Given the description of an element on the screen output the (x, y) to click on. 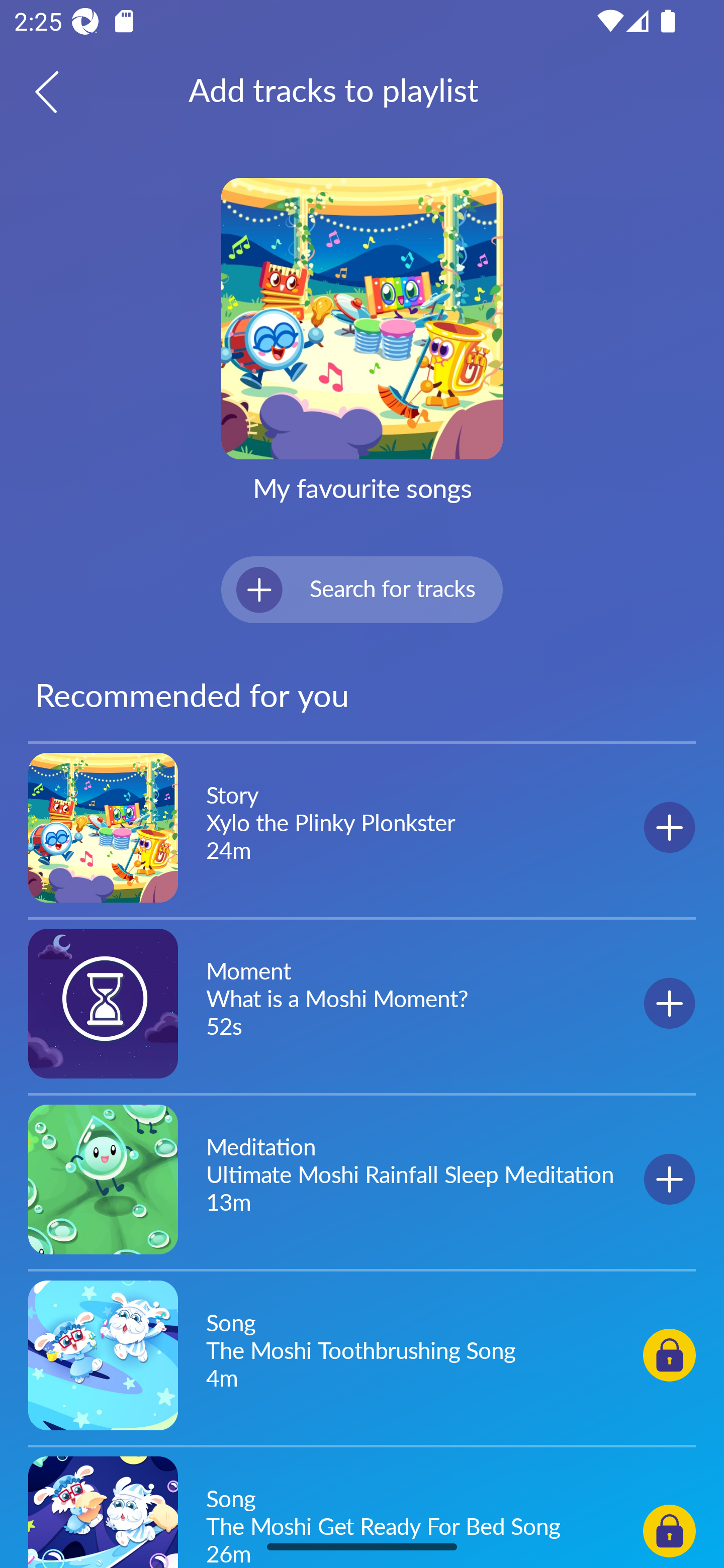
icon Search for tracks (361, 589)
Story Xylo the Plinky Plonkster 24m (361, 827)
Moment What is a Moshi Moment? 52s (361, 1003)
Song The Moshi Toothbrushing Song 4m (361, 1354)
Song The Moshi Get Ready For Bed Song 26m (361, 1509)
